Given the description of an element on the screen output the (x, y) to click on. 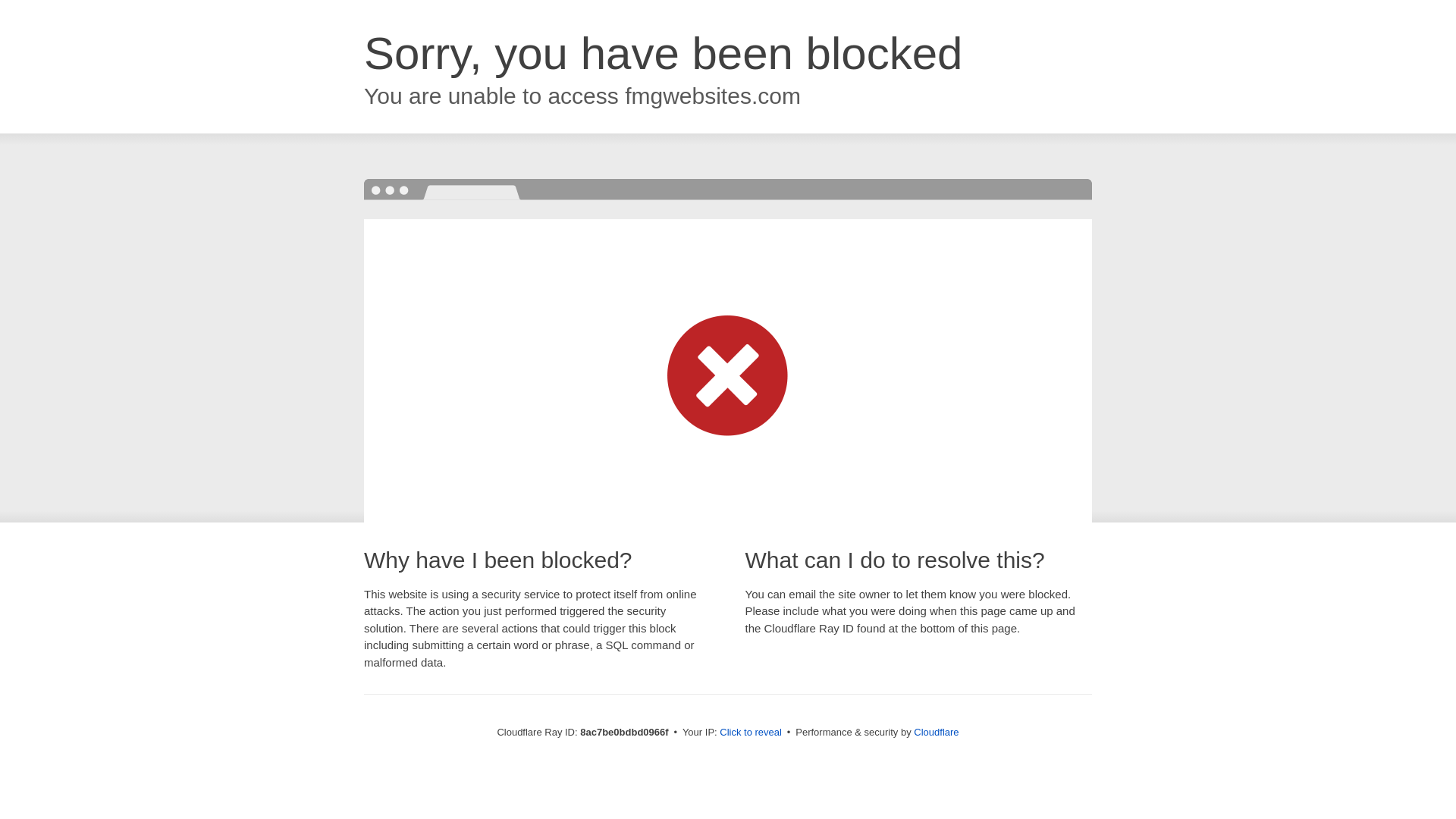
Click to reveal (750, 732)
Cloudflare (936, 731)
